Given the description of an element on the screen output the (x, y) to click on. 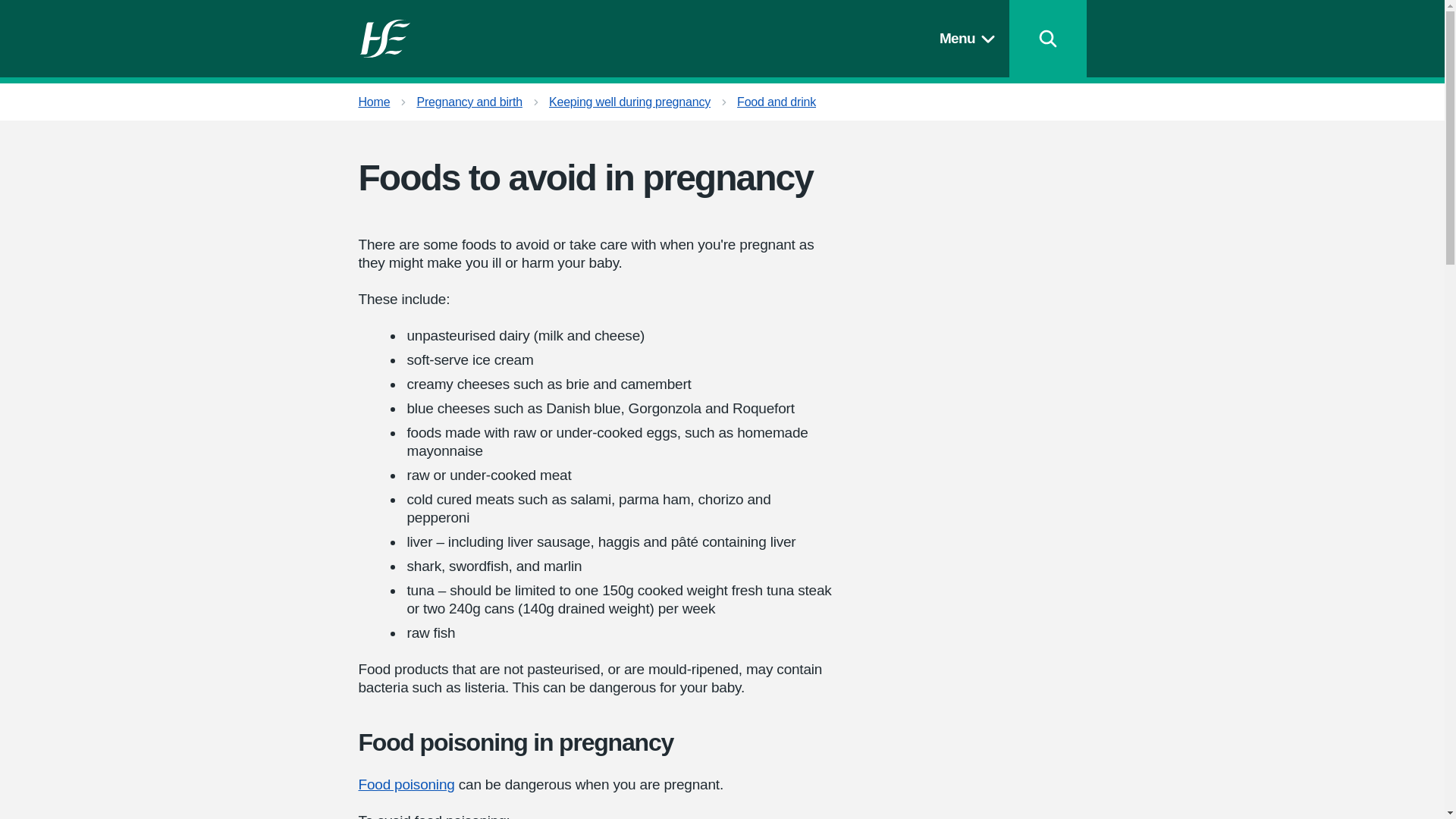
Food and drink (775, 101)
Menu (970, 38)
Toggle search (1047, 38)
Pregnancy and birth (468, 101)
Keeping well during pregnancy (629, 101)
Food poisoning (406, 784)
Home (374, 101)
